Given the description of an element on the screen output the (x, y) to click on. 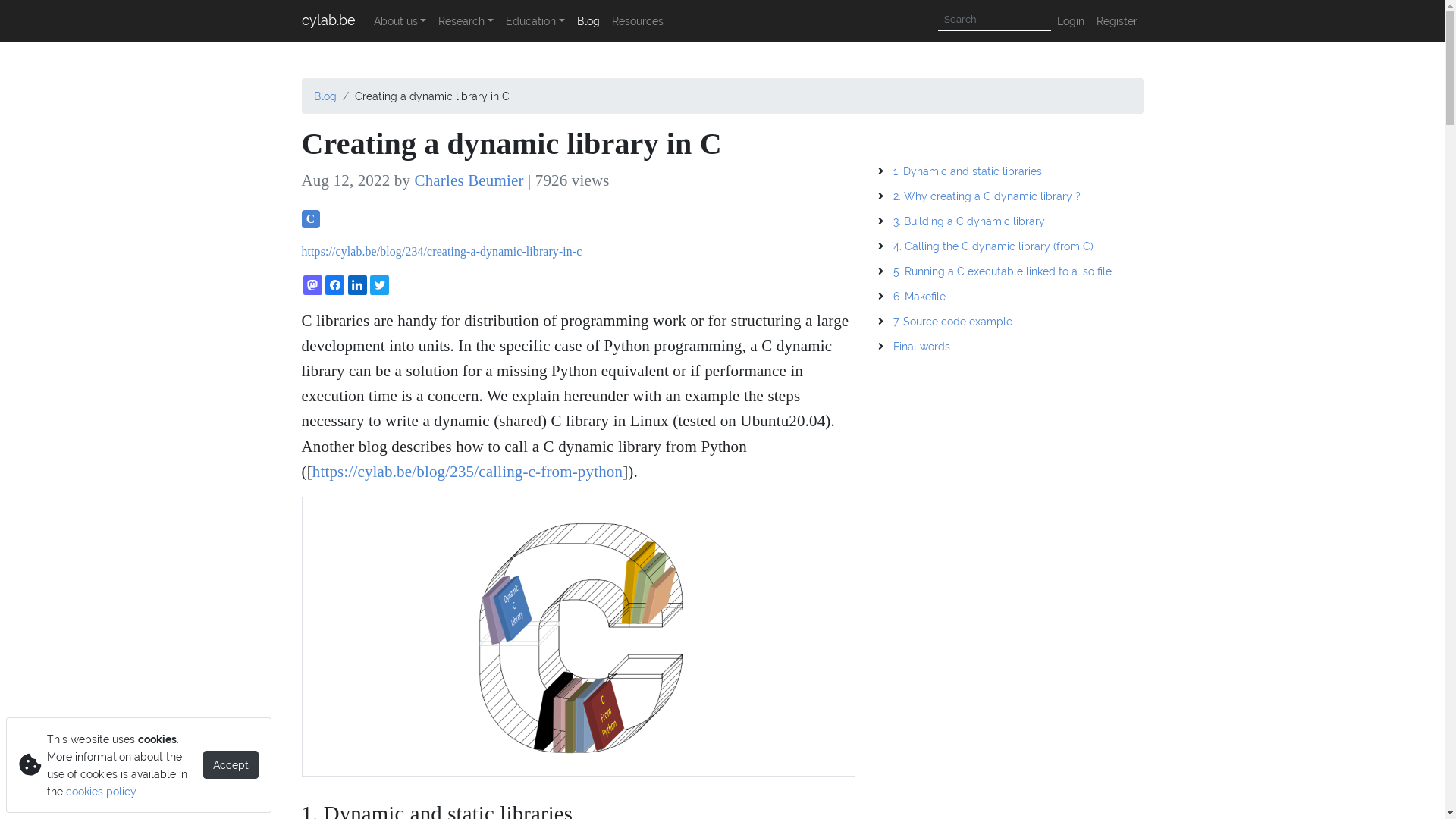
C Element type: text (310, 219)
Education Element type: text (535, 20)
2. Why creating a C dynamic library ? Element type: text (986, 195)
Register Element type: text (1116, 20)
https://cylab.be/blog/235/calling-c-from-python Element type: text (467, 471)
Charles Beumier Element type: text (470, 180)
7. Source code example Element type: text (952, 320)
3. Building a C dynamic library Element type: text (968, 220)
5. Running a C executable linked to a .so file Element type: text (1002, 270)
Blog Element type: text (324, 95)
About us Element type: text (399, 20)
Final words Element type: text (921, 345)
Research Element type: text (465, 20)
1. Dynamic and static libraries Element type: text (967, 170)
Resources Element type: text (637, 20)
Blog Element type: text (588, 20)
Login Element type: text (1070, 20)
cookies policy Element type: text (100, 790)
Accept Element type: text (230, 764)
https://cylab.be/blog/234/creating-a-dynamic-library-in-c Element type: text (441, 250)
cylab.be Element type: text (328, 20)
6. Makefile Element type: text (919, 295)
4. Calling the C dynamic library (from C) Element type: text (993, 245)
